Given the description of an element on the screen output the (x, y) to click on. 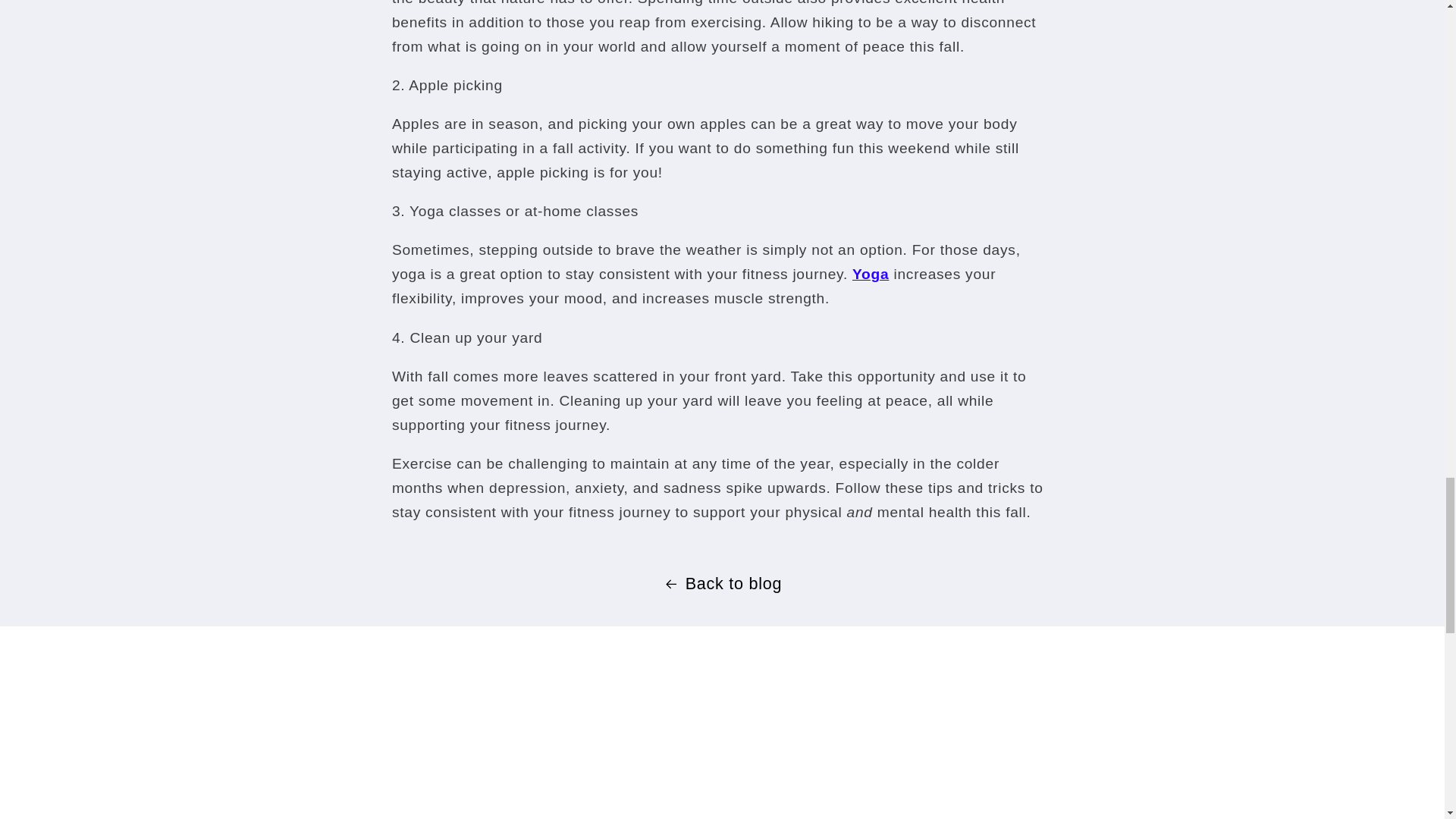
women's wellness (869, 273)
